Given the description of an element on the screen output the (x, y) to click on. 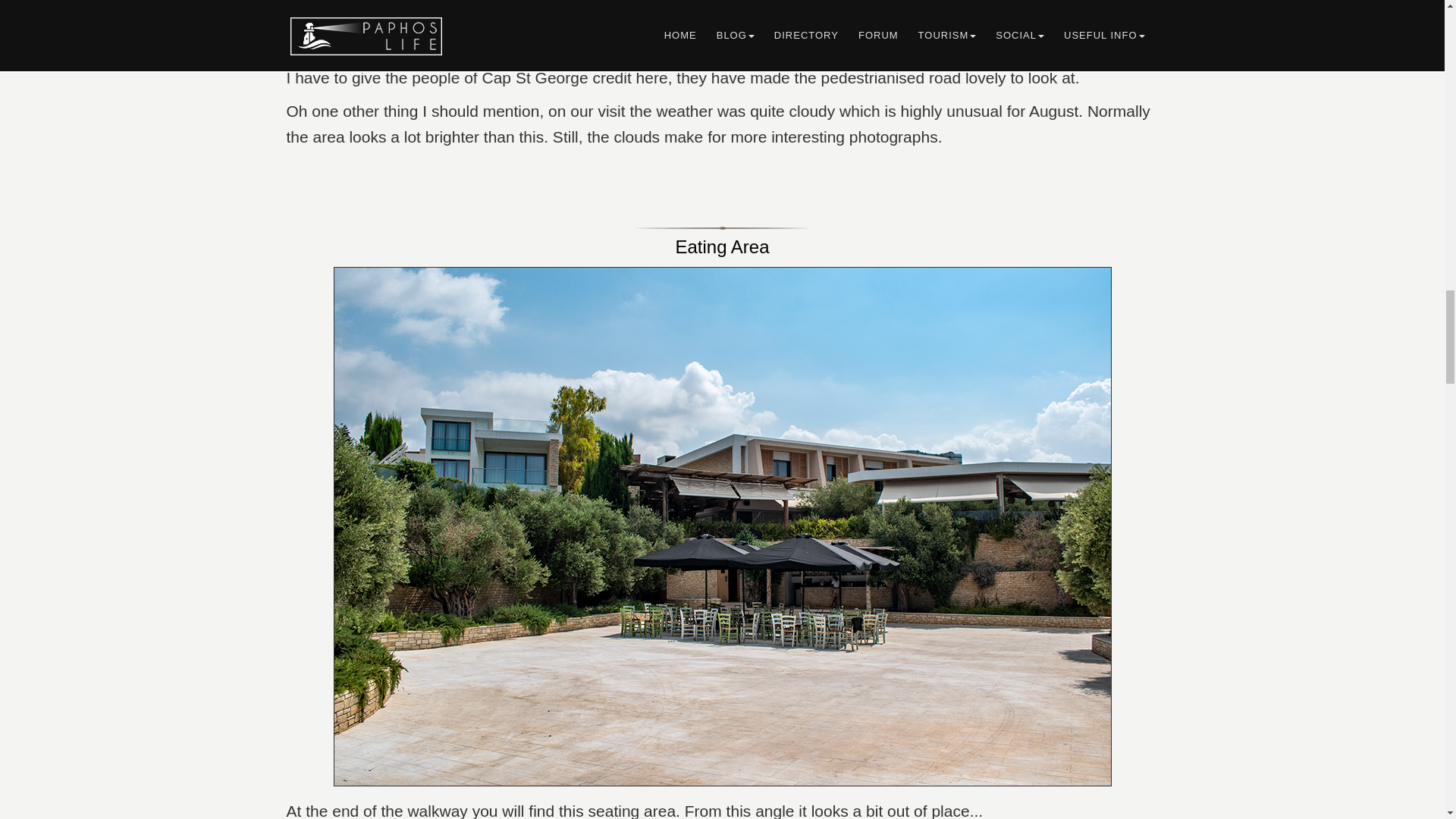
Kafizis-beach 03 (722, 26)
